Given the description of an element on the screen output the (x, y) to click on. 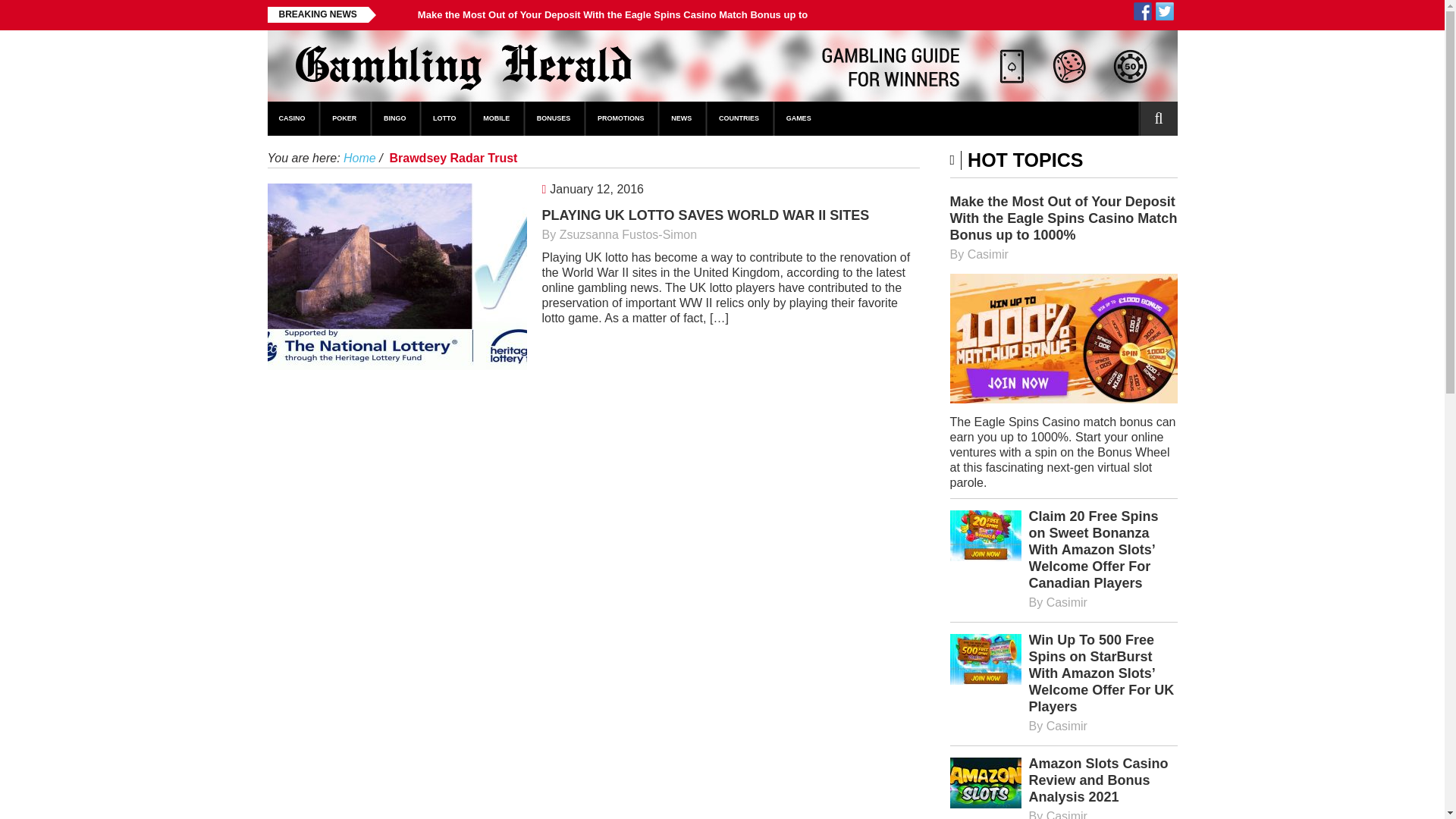
Posts by Zsuzsanna Fustos-Simon (628, 234)
Follow us on Facebook (1141, 11)
BONUSES (554, 118)
Posts by Casimir (1066, 725)
Posts by Casimir (1066, 602)
Follow us on Twitter (1164, 11)
Posts by Casimir (988, 254)
Posts by Casimir (1066, 814)
